Given the description of an element on the screen output the (x, y) to click on. 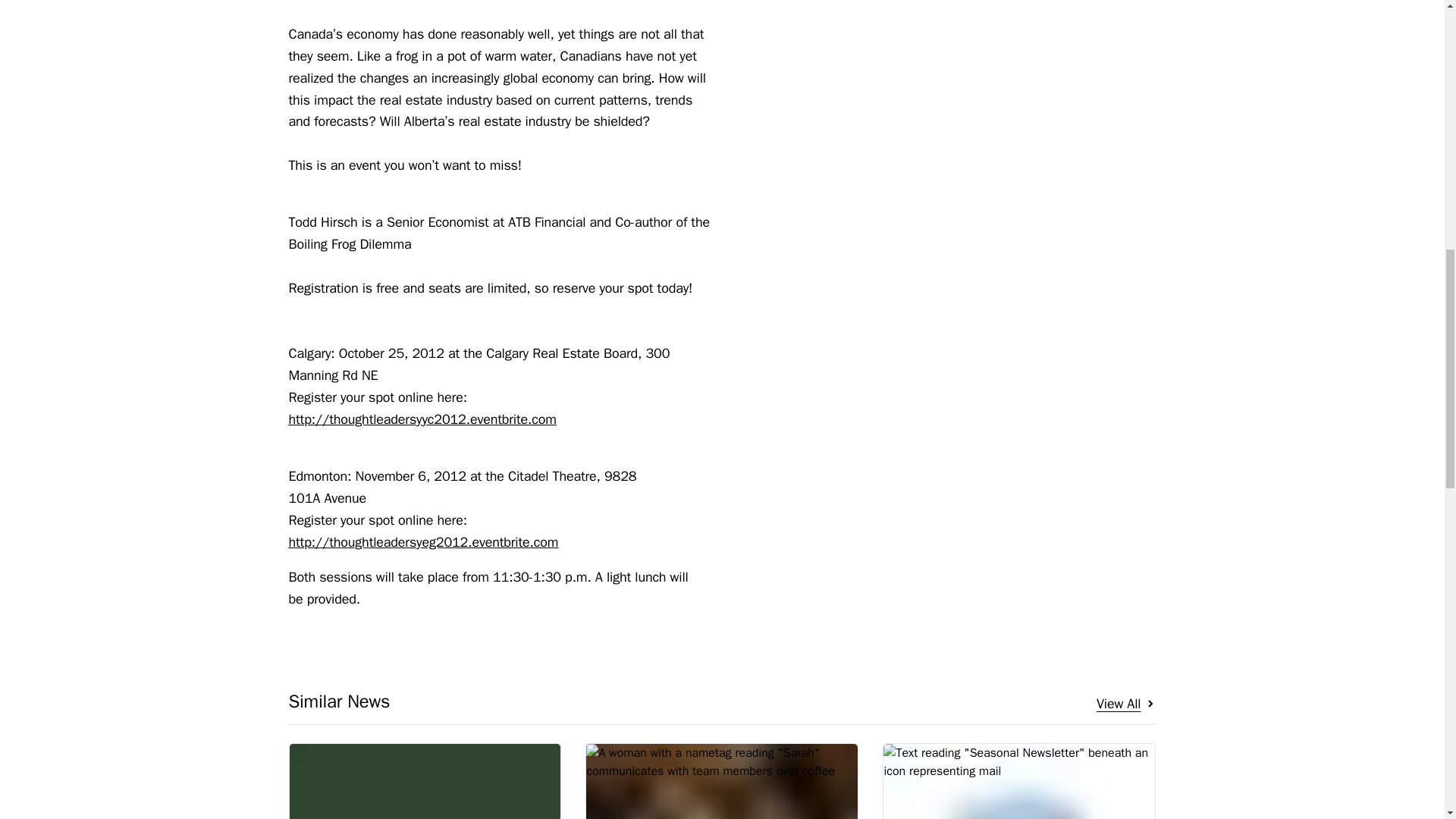
View All (1126, 703)
